Given the description of an element on the screen output the (x, y) to click on. 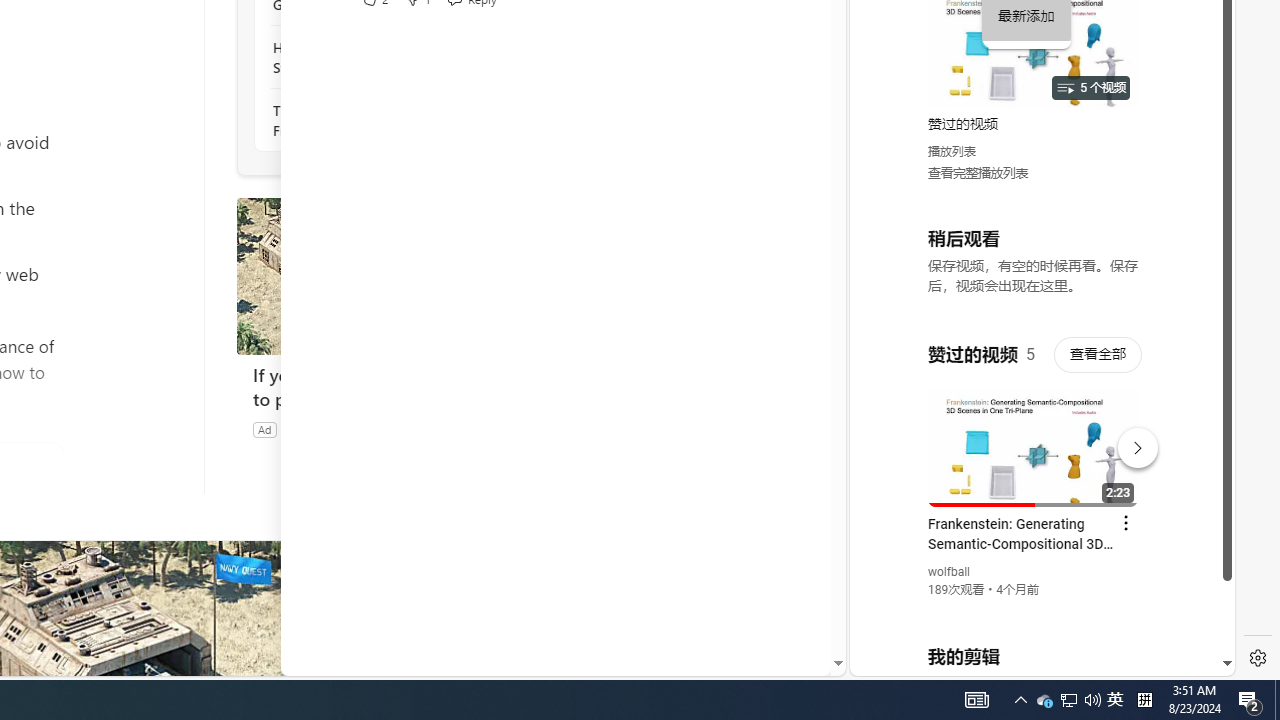
Global web icon (888, 432)
Click to scroll right (1196, 83)
Navy Quest Game (329, 429)
wolfball (949, 572)
YouTube (1034, 432)
Class: dict_pnIcon rms_img (1028, 660)
If you have a mouse, you have to play this game. (386, 386)
Ad Choice (514, 429)
Actions for this site (1131, 443)
#you (1034, 439)
